Given the description of an element on the screen output the (x, y) to click on. 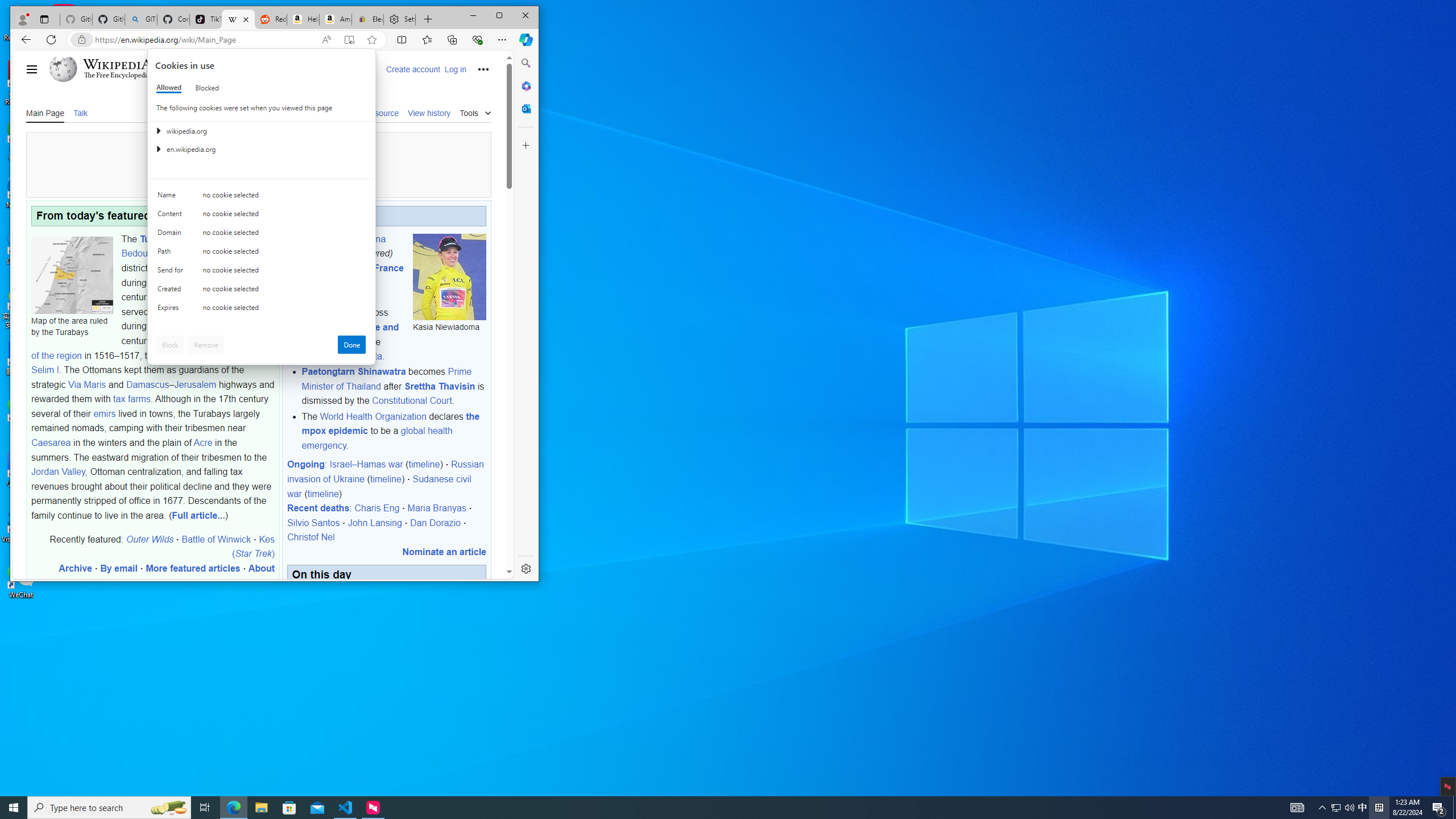
Done (351, 344)
Microsoft Store (289, 807)
Visual Studio Code - 1 running window (1362, 807)
Class: c0153 c0157 (345, 807)
Notification Chevron (261, 309)
